Given the description of an element on the screen output the (x, y) to click on. 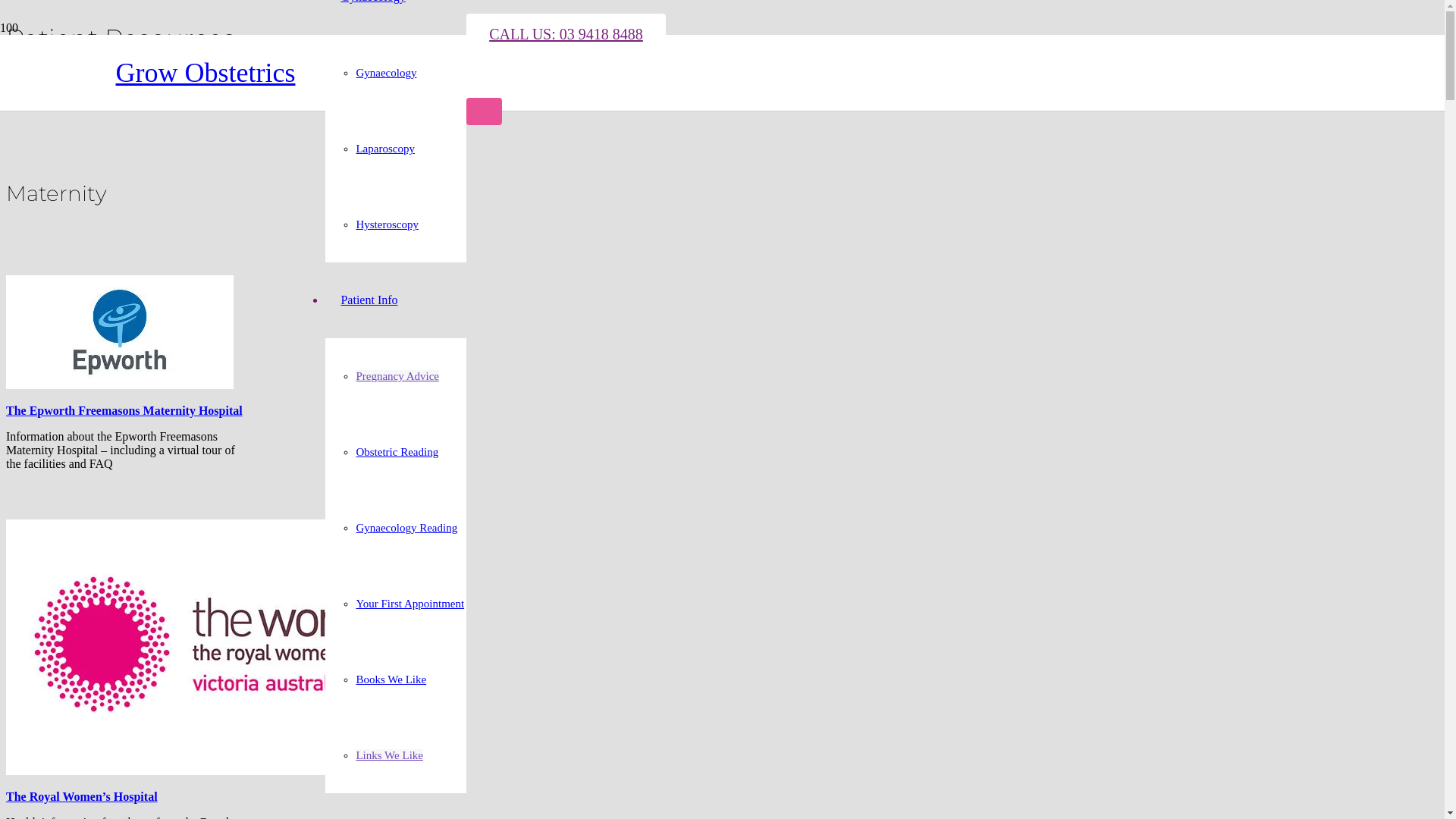
Laparoscopy Element type: text (384, 148)
Gynaecology Reading Element type: text (406, 527)
Links We Like Element type: text (389, 755)
Gynaecology Element type: text (385, 72)
The Epworth Freemasons Maternity Hospital Element type: text (124, 410)
CALL US: 03 9418 8488 Element type: text (565, 33)
Hysteroscopy Element type: text (386, 224)
Grow Obstetrics Element type: text (204, 72)
Pregnancy Advice Element type: text (397, 376)
Books We Like Element type: text (390, 679)
Your First Appointment Element type: text (409, 603)
Patient Info Element type: text (368, 299)
Obstetric Reading Element type: text (396, 451)
